Given the description of an element on the screen output the (x, y) to click on. 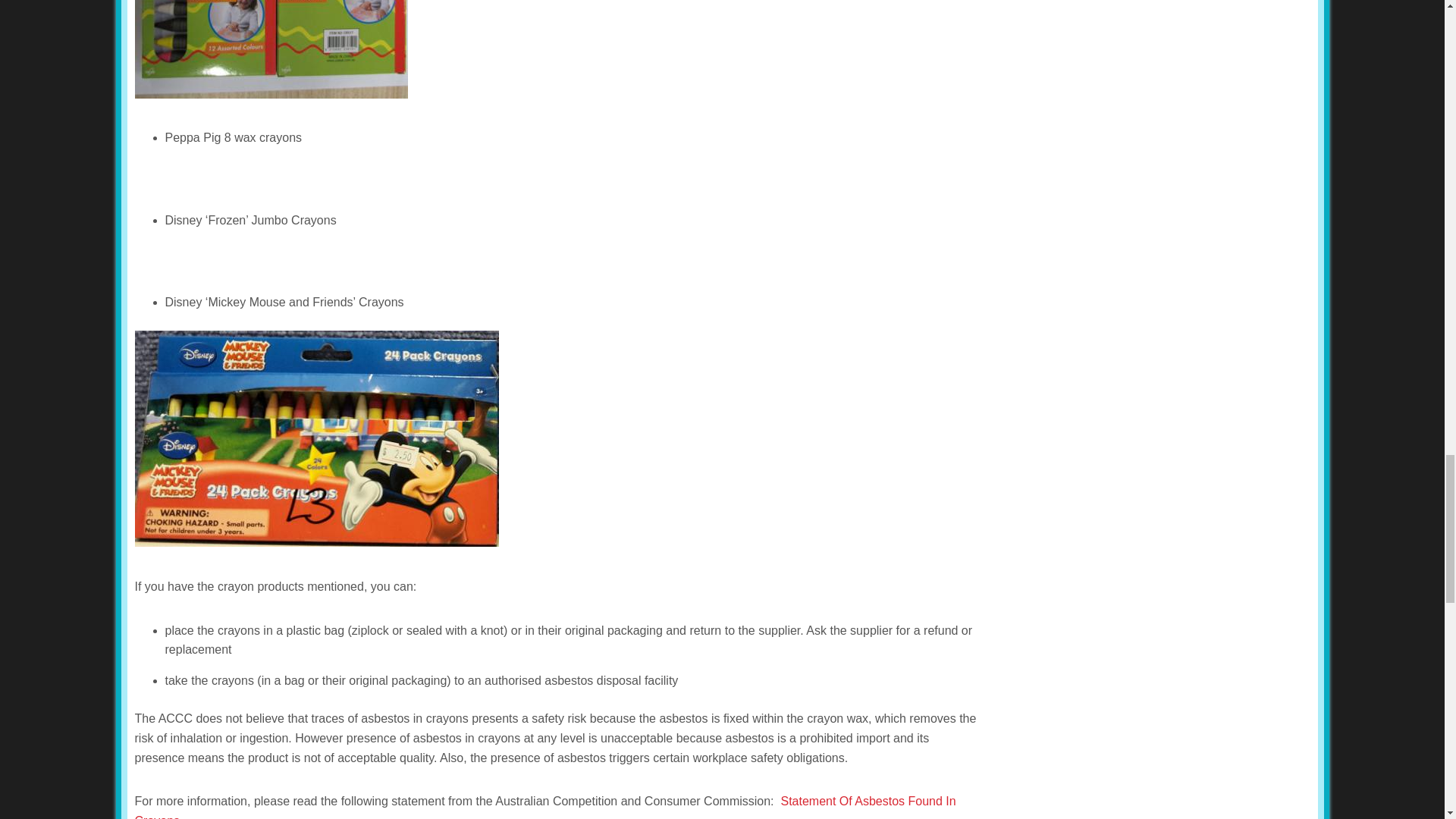
Statement Of Asbestos Found In Crayons (545, 806)
